Given the description of an element on the screen output the (x, y) to click on. 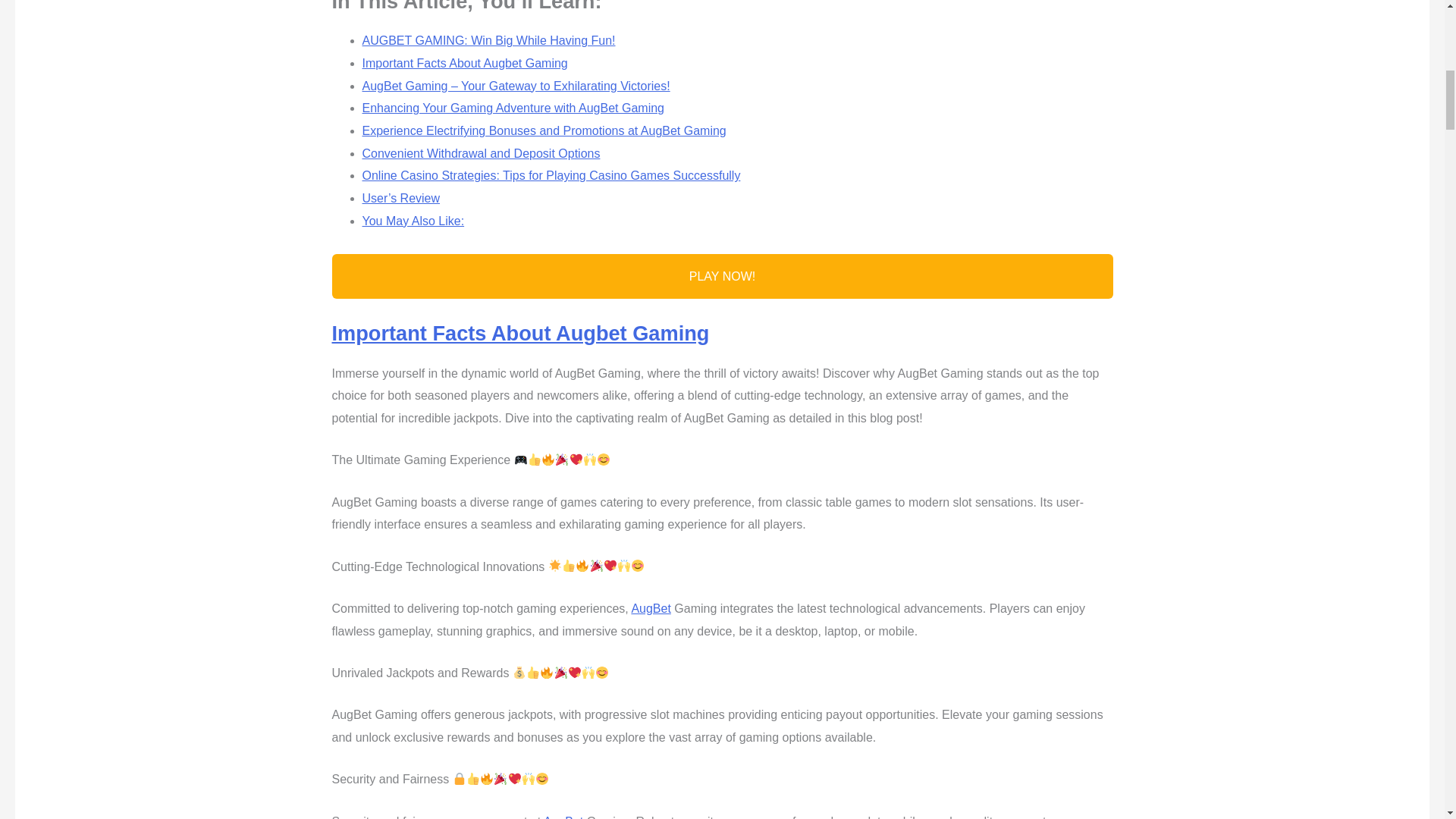
Convenient Withdrawal and Deposit Options (480, 153)
AugBet (649, 608)
AUGBET GAMING: Win Big While Having Fun! (488, 40)
PLAY NOW! (722, 276)
AugBet (563, 816)
Important Facts About Augbet Gaming (464, 62)
Enhancing Your Gaming Adventure with AugBet Gaming (512, 107)
Important Facts About Augbet Gaming (520, 332)
You May Also Like: (413, 220)
